Given the description of an element on the screen output the (x, y) to click on. 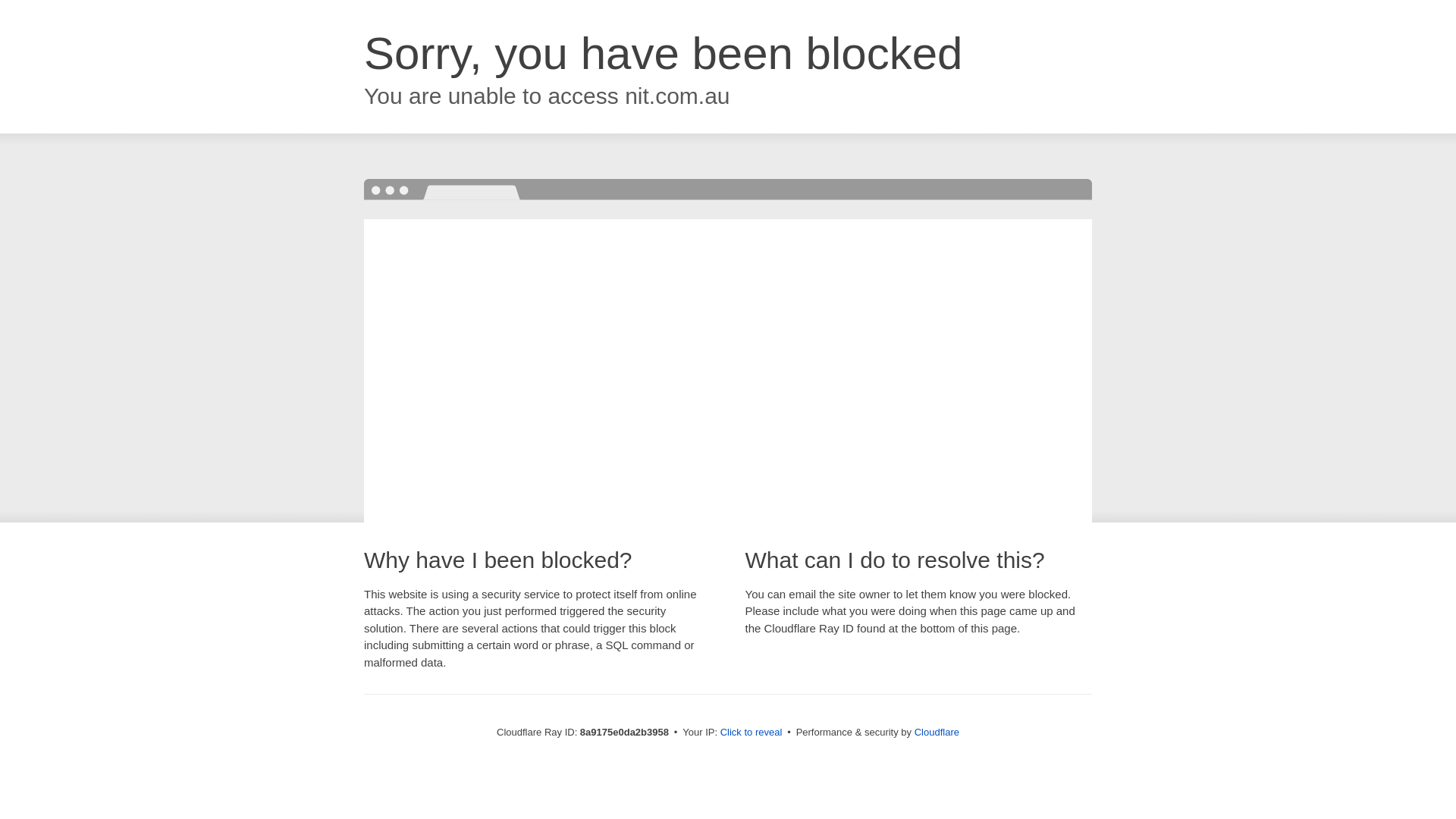
Click to reveal (751, 732)
Cloudflare (936, 731)
